Given the description of an element on the screen output the (x, y) to click on. 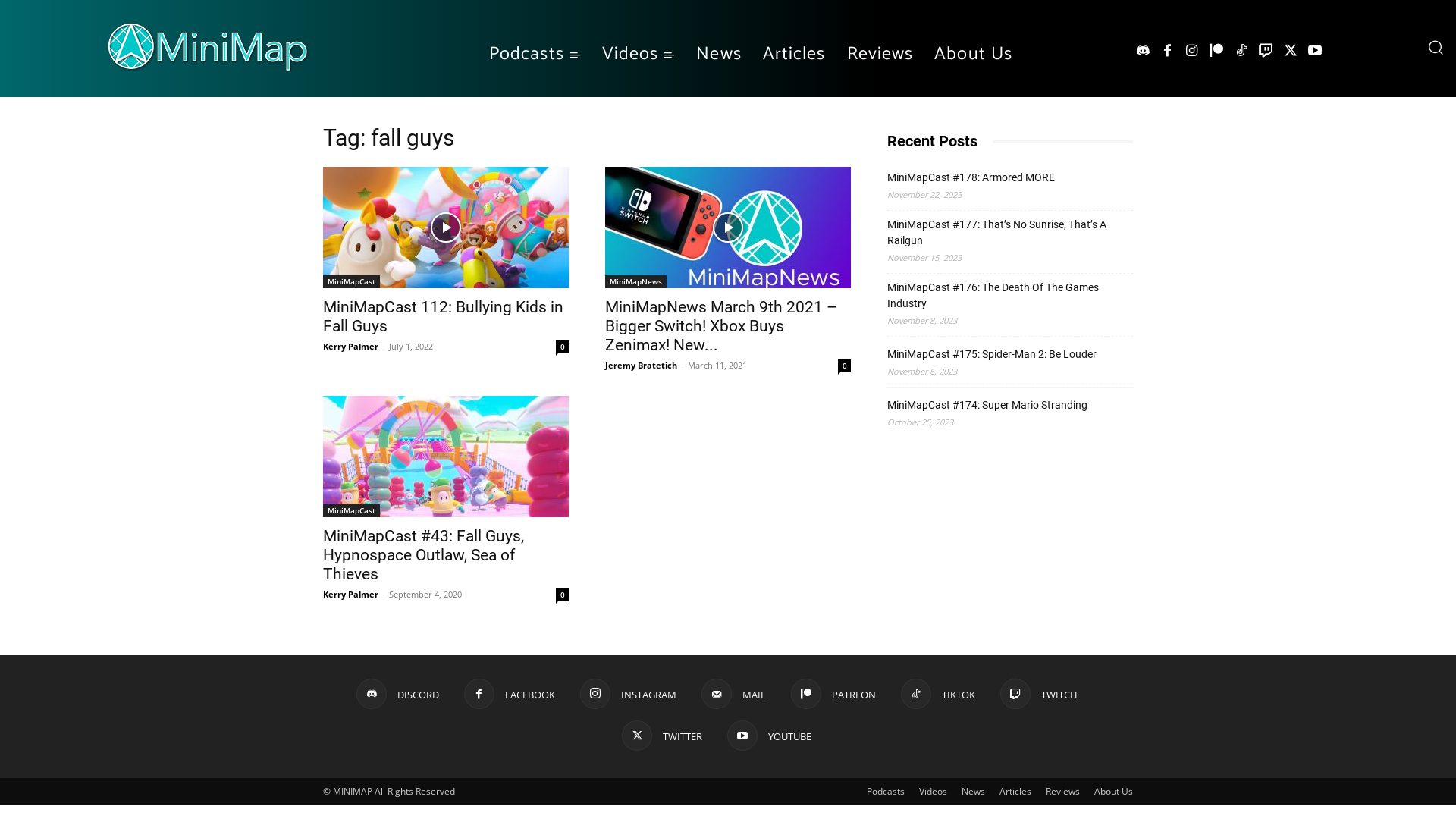
Youtube Element type: hover (1314, 51)
Videos Element type: text (638, 54)
Articles Element type: text (794, 54)
News Element type: text (973, 791)
Articles Element type: text (1015, 791)
FACEBOOK Element type: text (509, 693)
Reviews Element type: text (1062, 791)
0 Element type: text (843, 365)
Discord Element type: hover (1142, 51)
News Element type: text (718, 54)
0 Element type: text (561, 346)
0 Element type: text (561, 594)
Facebook Element type: hover (1166, 51)
YOUTUBE Element type: text (769, 735)
MiniMapCast #176: The Death Of The Games Industry Element type: text (1009, 295)
Kerry Palmer Element type: text (350, 593)
MiniMapCast #175: Spider-Man 2: Be Louder Element type: text (991, 354)
Twitch Element type: hover (1265, 51)
Podcasts Element type: text (534, 54)
Reviews Element type: text (880, 54)
TIKTOK Element type: text (937, 693)
DISCORD Element type: text (397, 693)
MiniMapCast 112: Bullying Kids in Fall Guys Element type: text (443, 316)
Videos Element type: text (933, 791)
About Us Element type: text (1113, 791)
About Us Element type: text (972, 54)
Podcasts Element type: text (885, 791)
Kerry Palmer Element type: text (350, 345)
MiniMapCast #178: Armored MORE Element type: text (970, 177)
Jeremy Bratetich Element type: text (641, 364)
MiniMapCast #174: Super Mario Stranding Element type: text (987, 405)
MiniMapCast Element type: text (351, 510)
TWITCH Element type: text (1037, 693)
PATREON Element type: text (832, 693)
MiniMapCast 112: Bullying Kids in Fall Guys Element type: hover (445, 227)
TikTok Element type: hover (1241, 51)
MiniMapCast Element type: text (351, 281)
Instagram Element type: hover (1191, 51)
TWITTER Element type: text (661, 735)
Twitter Element type: hover (1289, 51)
MiniMapNews Element type: text (635, 281)
MAIL Element type: text (732, 693)
INSTAGRAM Element type: text (627, 693)
Patreon Element type: hover (1216, 51)
